Given the description of an element on the screen output the (x, y) to click on. 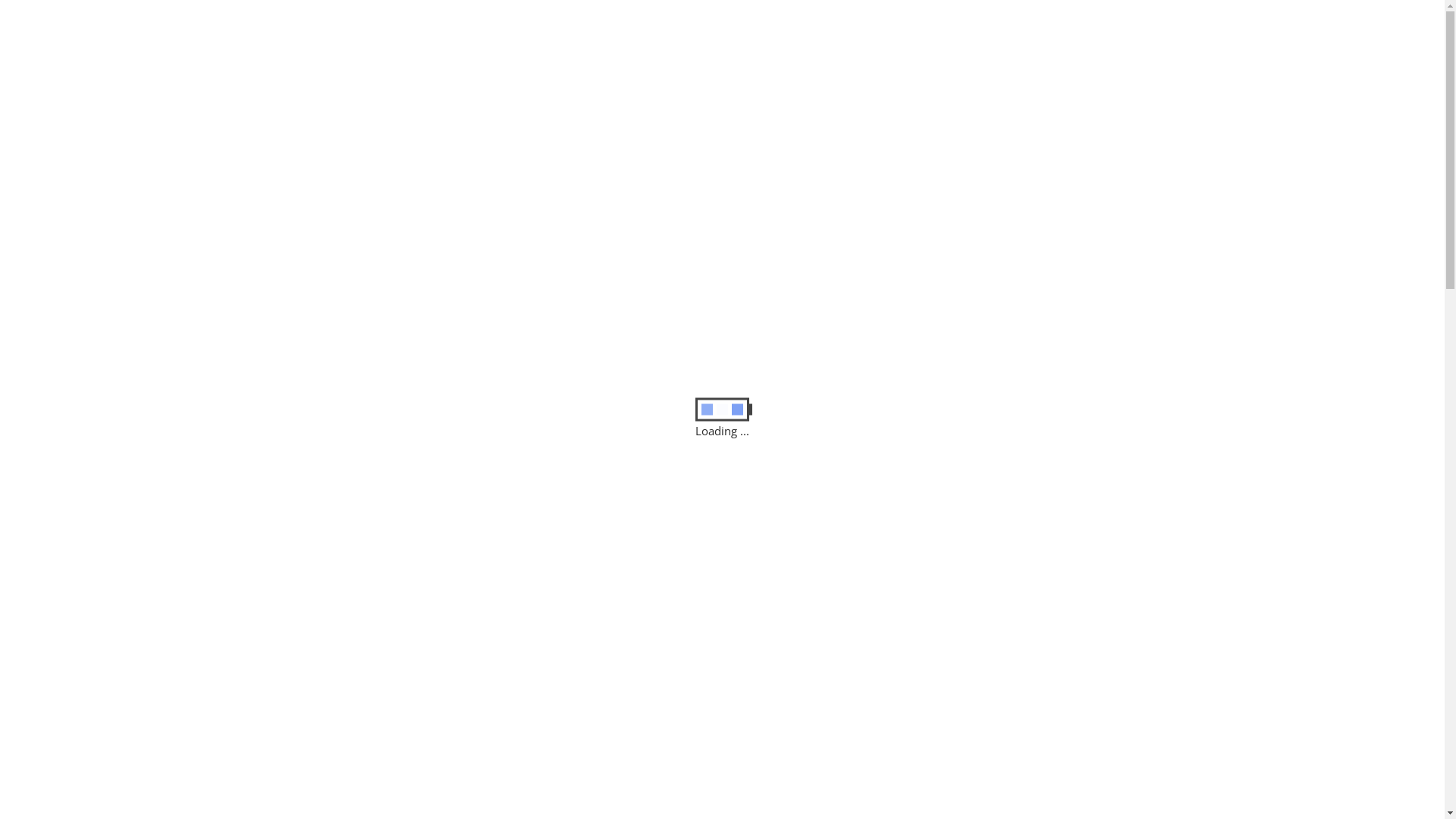
GALERIJA FOTOGRAFIJA Element type: text (847, 112)
O NAMA Element type: text (544, 112)
SERVISI I USLUGE Element type: text (668, 112)
KONTAKT Element type: text (996, 112)
